Given the description of an element on the screen output the (x, y) to click on. 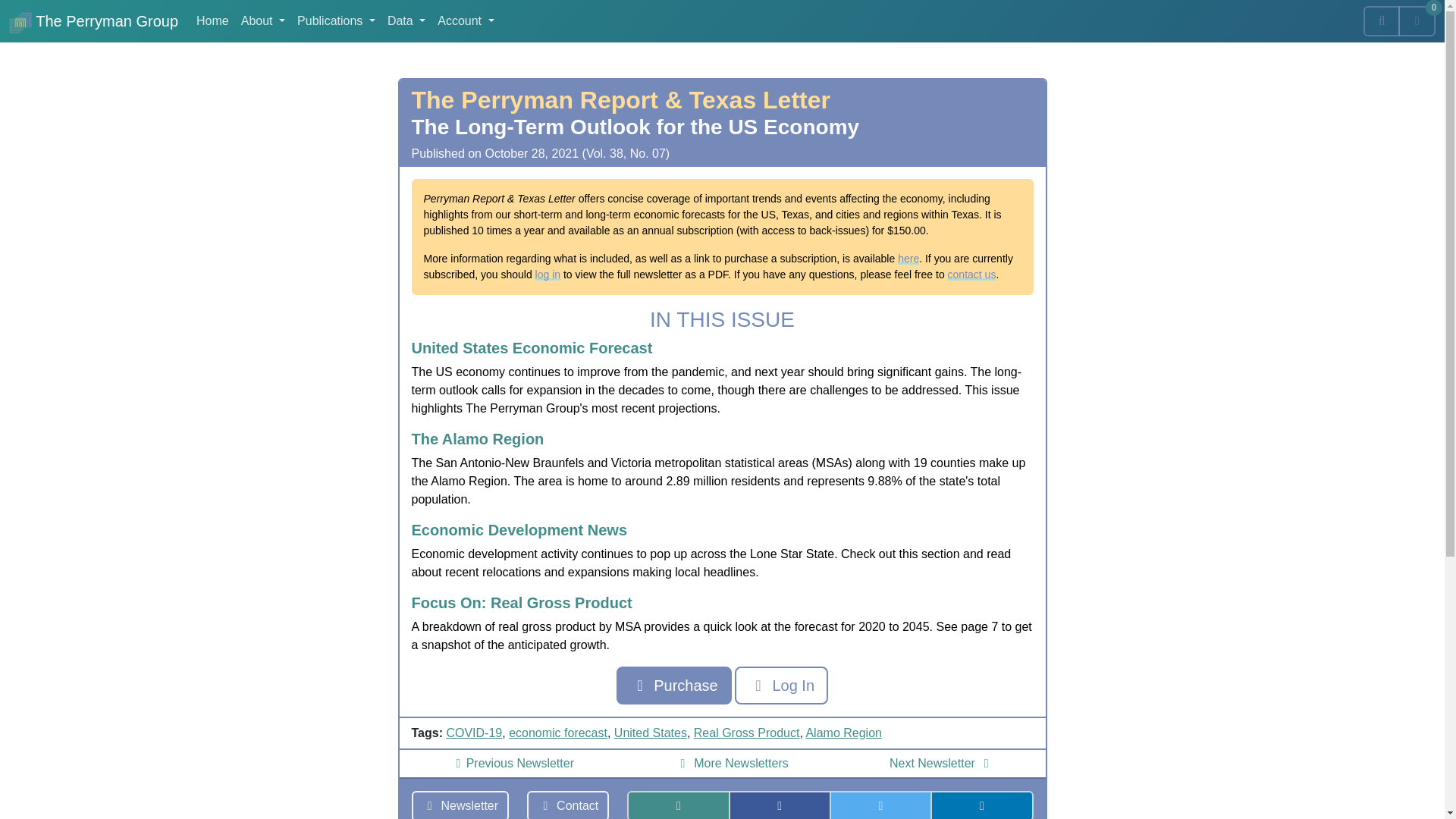
Alamo Region (843, 732)
Account (464, 20)
More Newsletters (732, 763)
Purchase (673, 685)
contact us (971, 274)
COVID-19 (473, 732)
Newsletter (459, 805)
log in (547, 274)
Log In (781, 685)
Real Gross Product (746, 732)
